Given the description of an element on the screen output the (x, y) to click on. 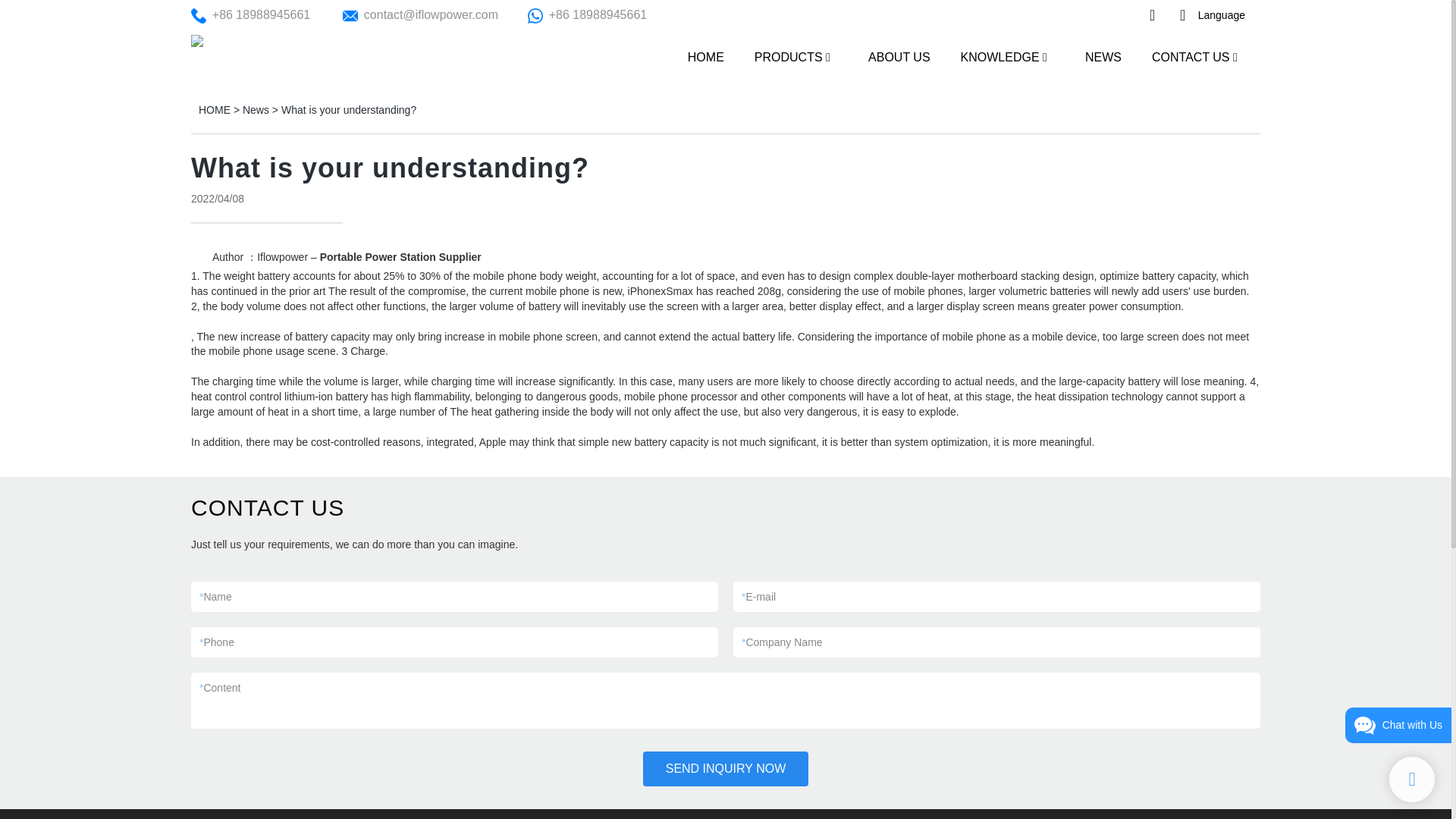
PRODUCTS (788, 56)
Portable Power Station Supplier (400, 256)
KNOWLEDGE (999, 56)
CONTACT US (1190, 56)
HOME (214, 110)
HOME (705, 56)
What is your understanding? (348, 110)
NEWS (1102, 56)
ABOUT US (898, 56)
SEND INQUIRY NOW (726, 768)
